Given the description of an element on the screen output the (x, y) to click on. 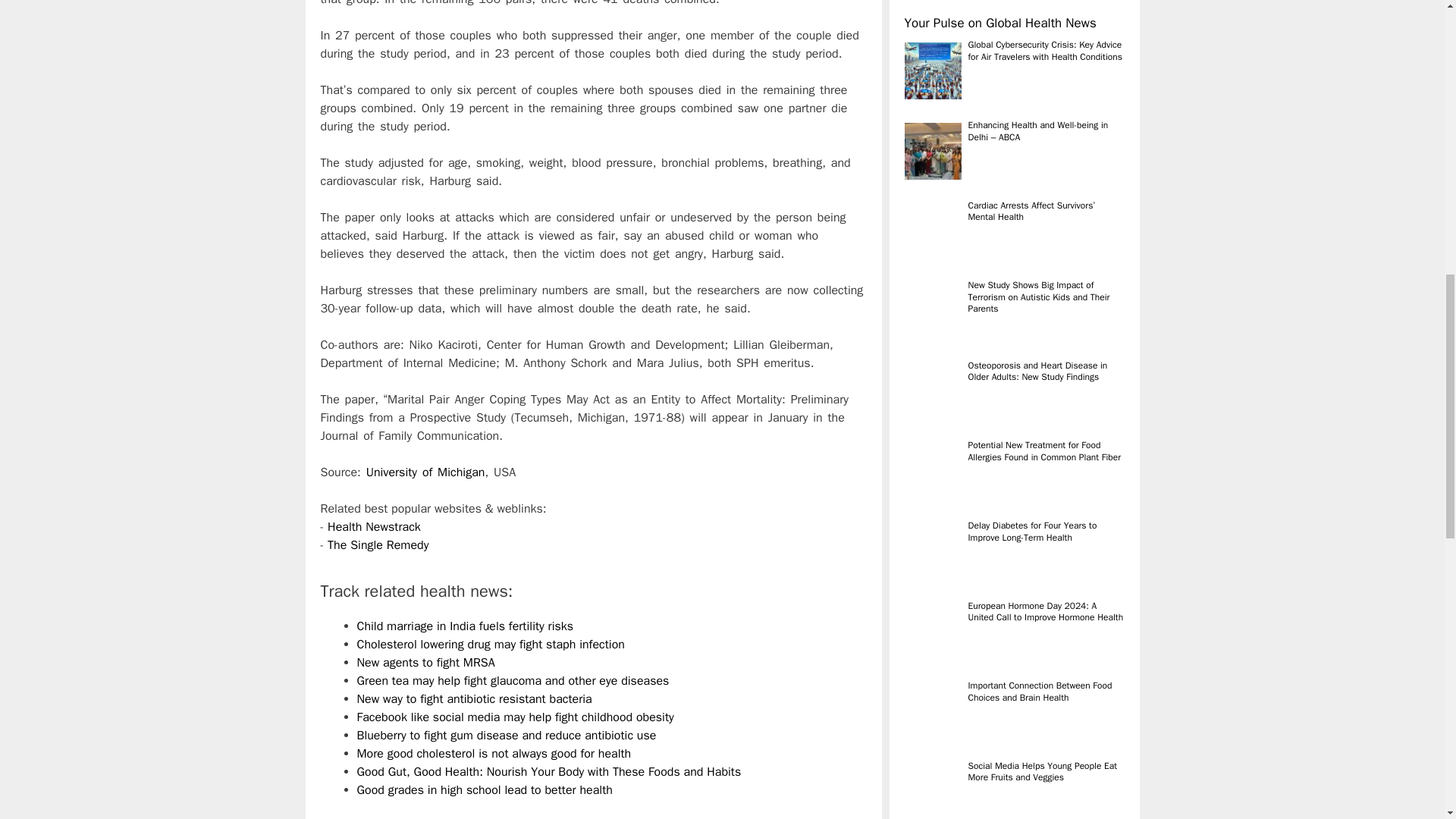
More good cholesterol is not always good for health (493, 753)
Child marriage in India fuels fertility risks (464, 626)
Health Newstrack (373, 526)
Blueberry to fight gum disease and reduce antibiotic use (506, 735)
University of Michigan (425, 472)
Green tea may help fight glaucoma and other eye diseases (512, 680)
Cholesterol lowering drug may fight staph infection (490, 644)
New agents to fight MRSA (425, 662)
Facebook like social media may help fight childhood obesity (514, 717)
The Single Remedy (377, 544)
Good grades in high school lead to better health (483, 789)
New way to fight antibiotic resistant bacteria (473, 698)
